Given the description of an element on the screen output the (x, y) to click on. 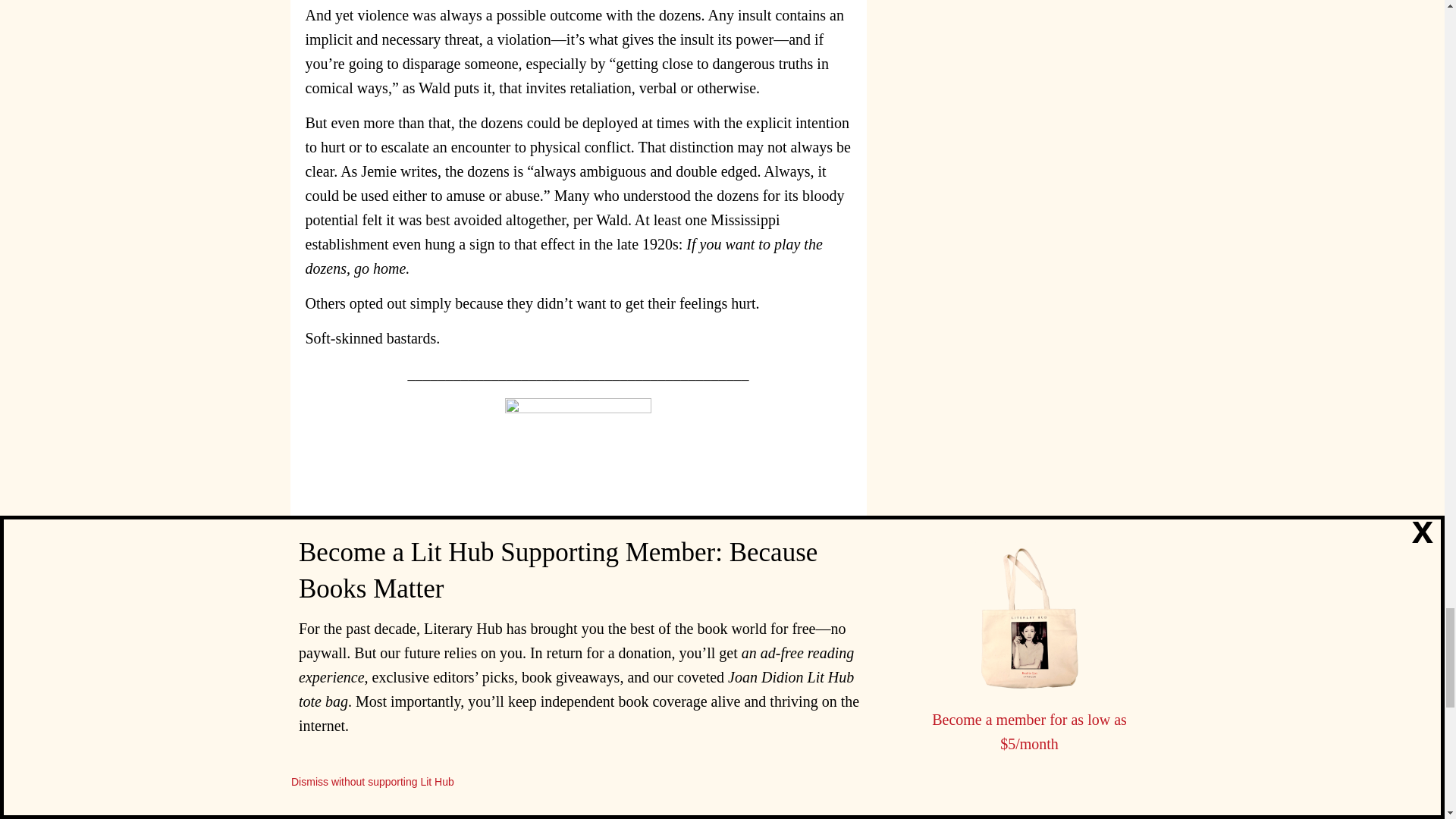
Click to share on Twitter (742, 802)
Share on Facebook (712, 802)
